Given the description of an element on the screen output the (x, y) to click on. 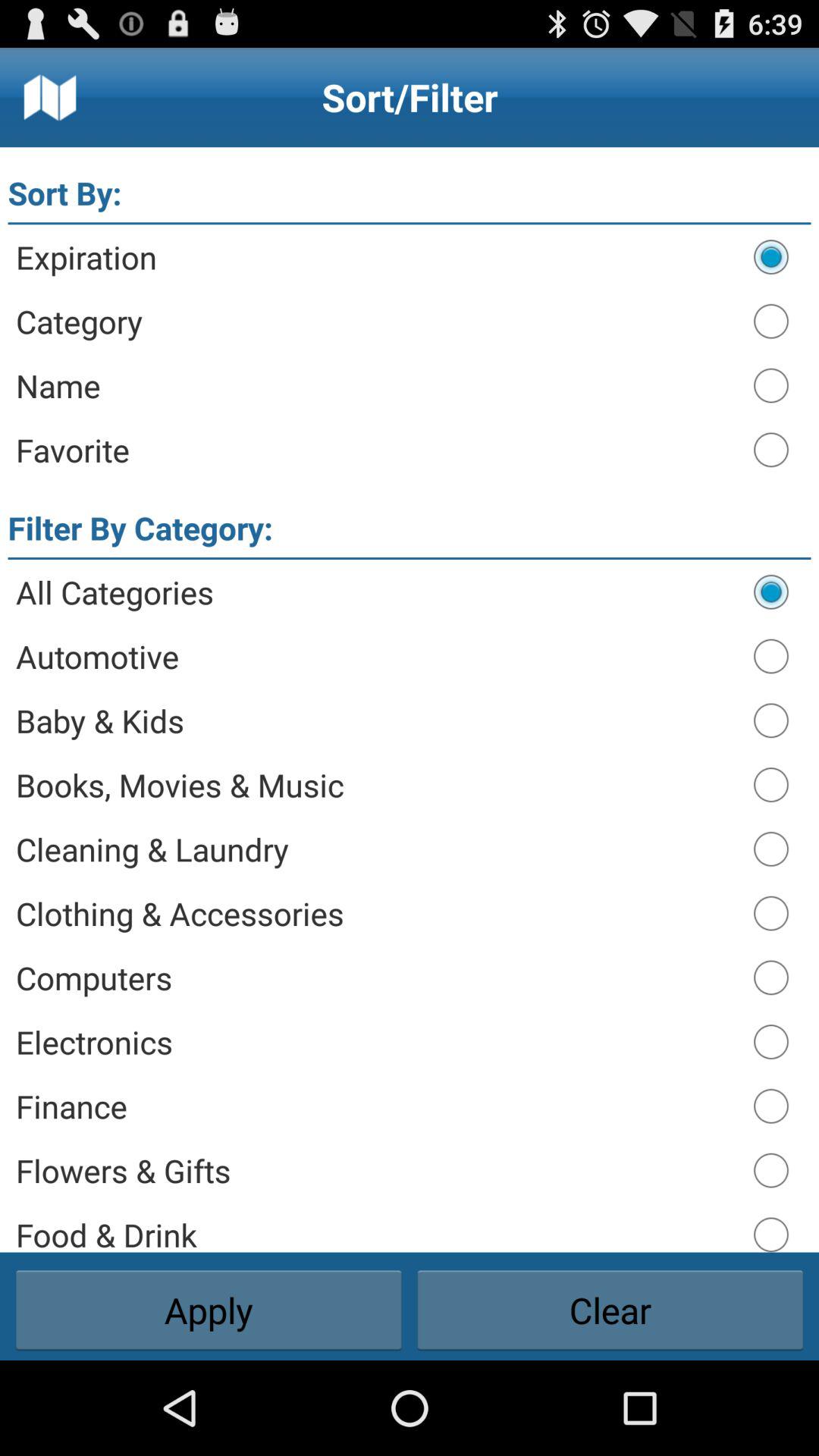
swipe to apply (208, 1310)
